Given the description of an element on the screen output the (x, y) to click on. 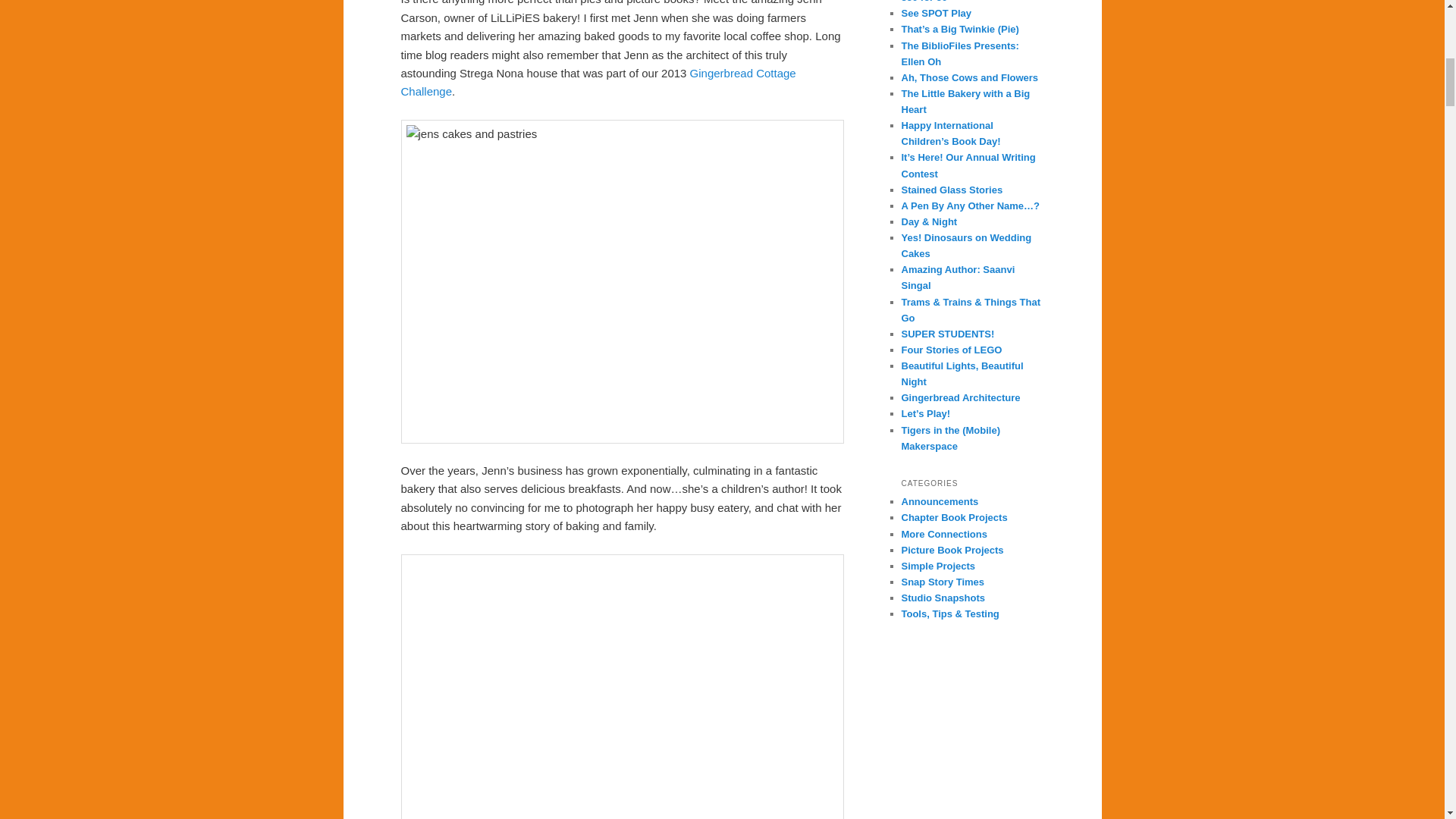
Gingerbread Cottage Challenge (597, 81)
